Given the description of an element on the screen output the (x, y) to click on. 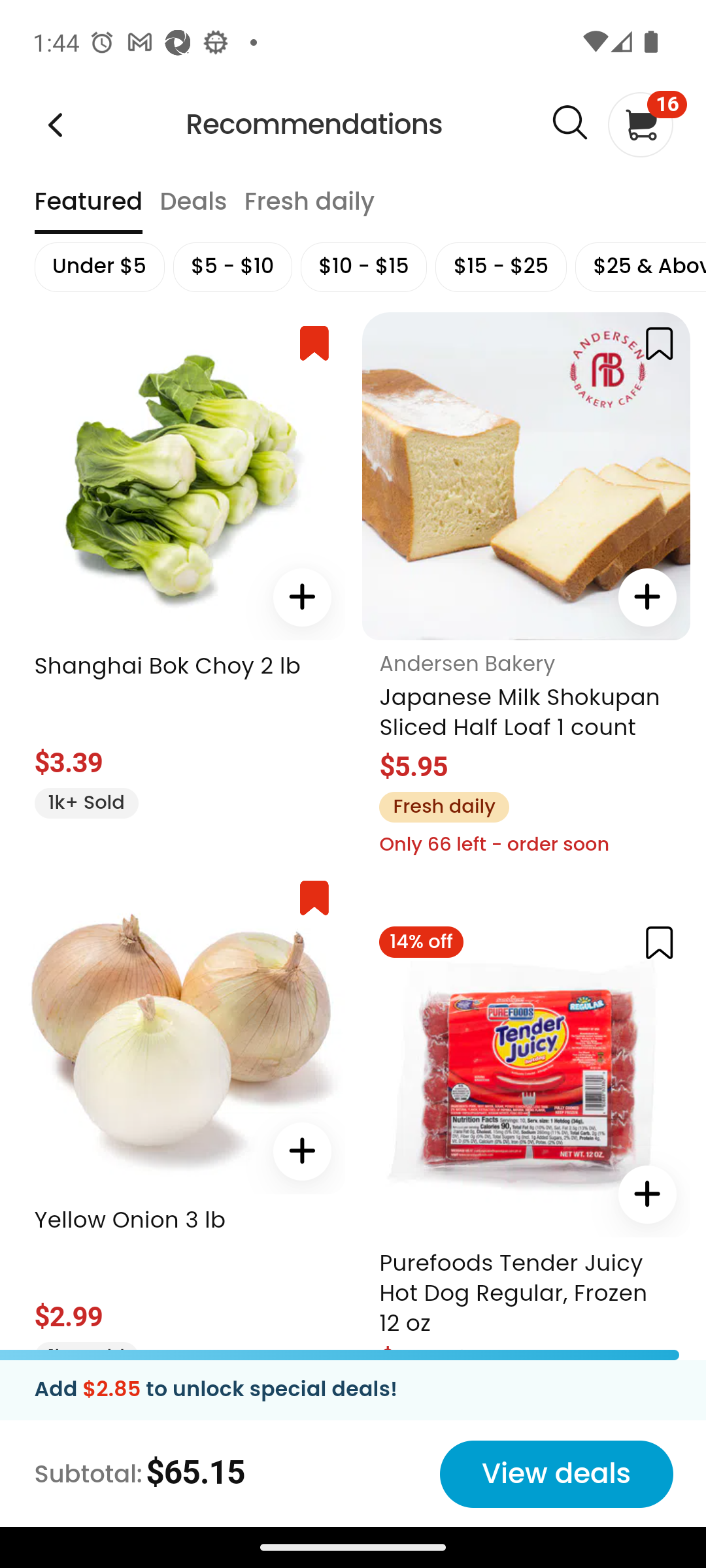
My cart 16 My cart (639, 124)
Weee! - Groceries Delivered (54, 124)
 (569, 123)
Featured (87, 210)
Deals (192, 210)
Fresh daily (308, 210)
Under $5 (97, 267)
Under $5 (97, 267)
$5 - $10 (231, 267)
$5 - $10 (231, 267)
$10 - $15 (362, 267)
$10 - $15 (362, 267)
$15 - $25 (500, 267)
$15 - $25 (500, 267)
$25 & Above (639, 267)
$25 & Above (639, 267)
 (313, 343)
 (659, 343)
 (301, 597)
 (647, 597)
Fresh daily (443, 806)
 (313, 897)
 (659, 941)
 (301, 1150)
 (647, 1193)
View deals (556, 1473)
